Given the description of an element on the screen output the (x, y) to click on. 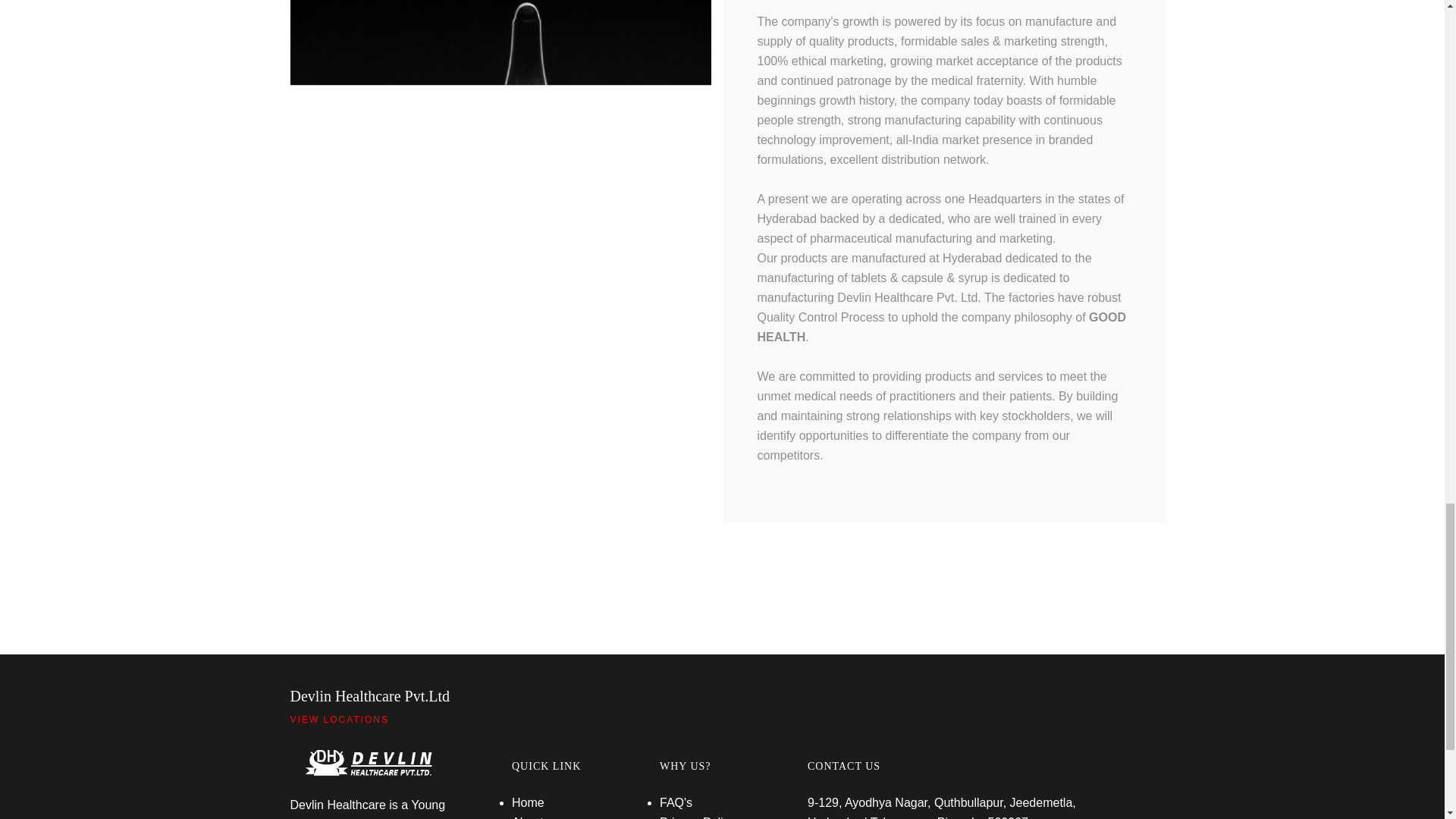
Home (528, 802)
FAQ's (676, 802)
Privacy Policy (697, 817)
About us (535, 817)
